Given the description of an element on the screen output the (x, y) to click on. 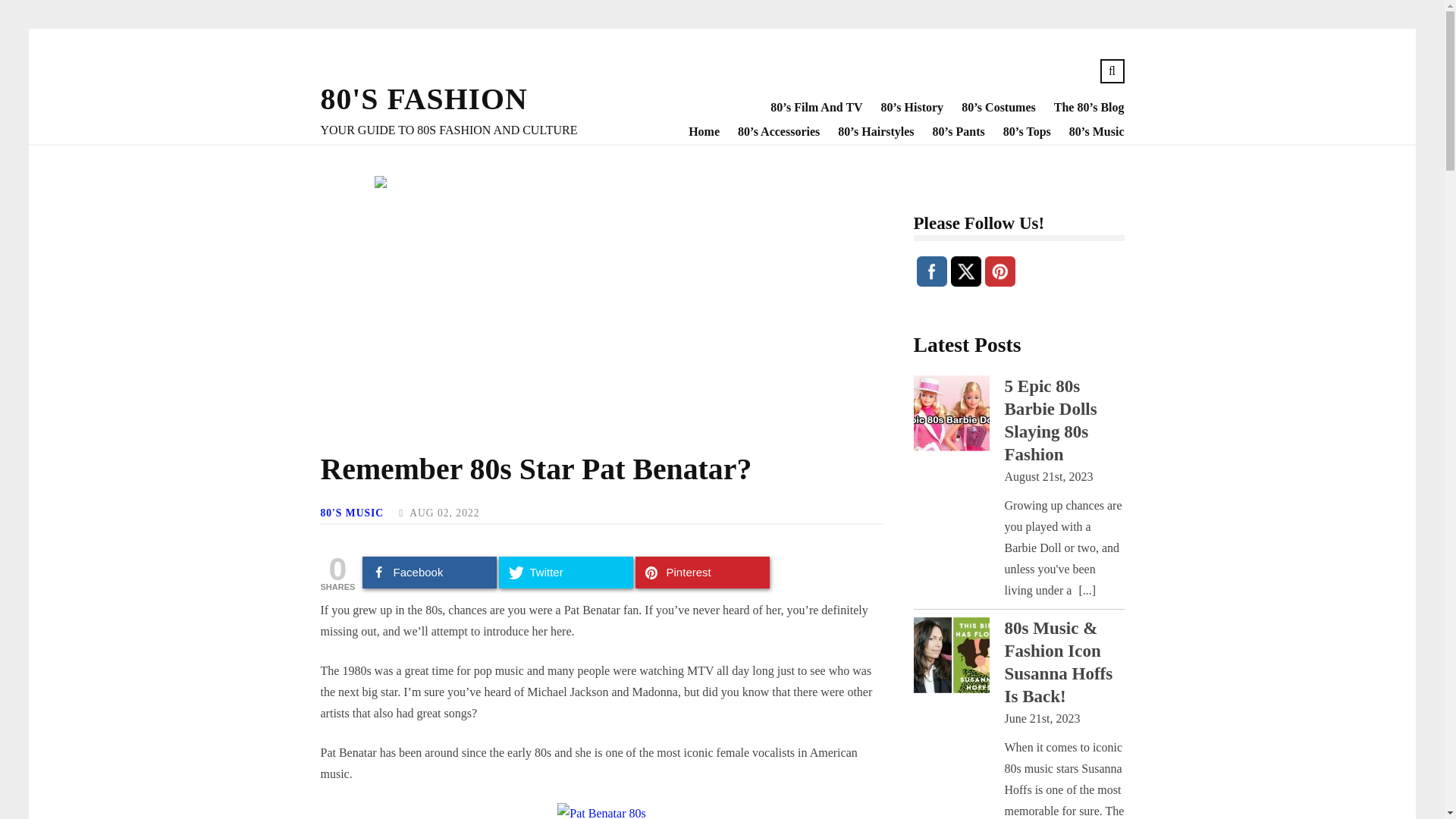
80'S FASHION (423, 99)
5 Epic 80s Barbie Dolls Slaying 80s Fashion (1050, 419)
Pinterest (999, 271)
80'S MUSIC (352, 512)
Facebook (429, 572)
5 Epic 80s Barbie Dolls Slaying 80s Fashion (1087, 590)
Twitter (965, 271)
80's Fashion (423, 99)
5 Epic 80s Barbie Dolls Slaying 80s Fashion (950, 416)
Twitter (566, 572)
Pinterest (702, 572)
Home (694, 131)
Facebook (930, 271)
5 Epic 80s Barbie Dolls Slaying 80s Fashion (1050, 419)
